Given the description of an element on the screen output the (x, y) to click on. 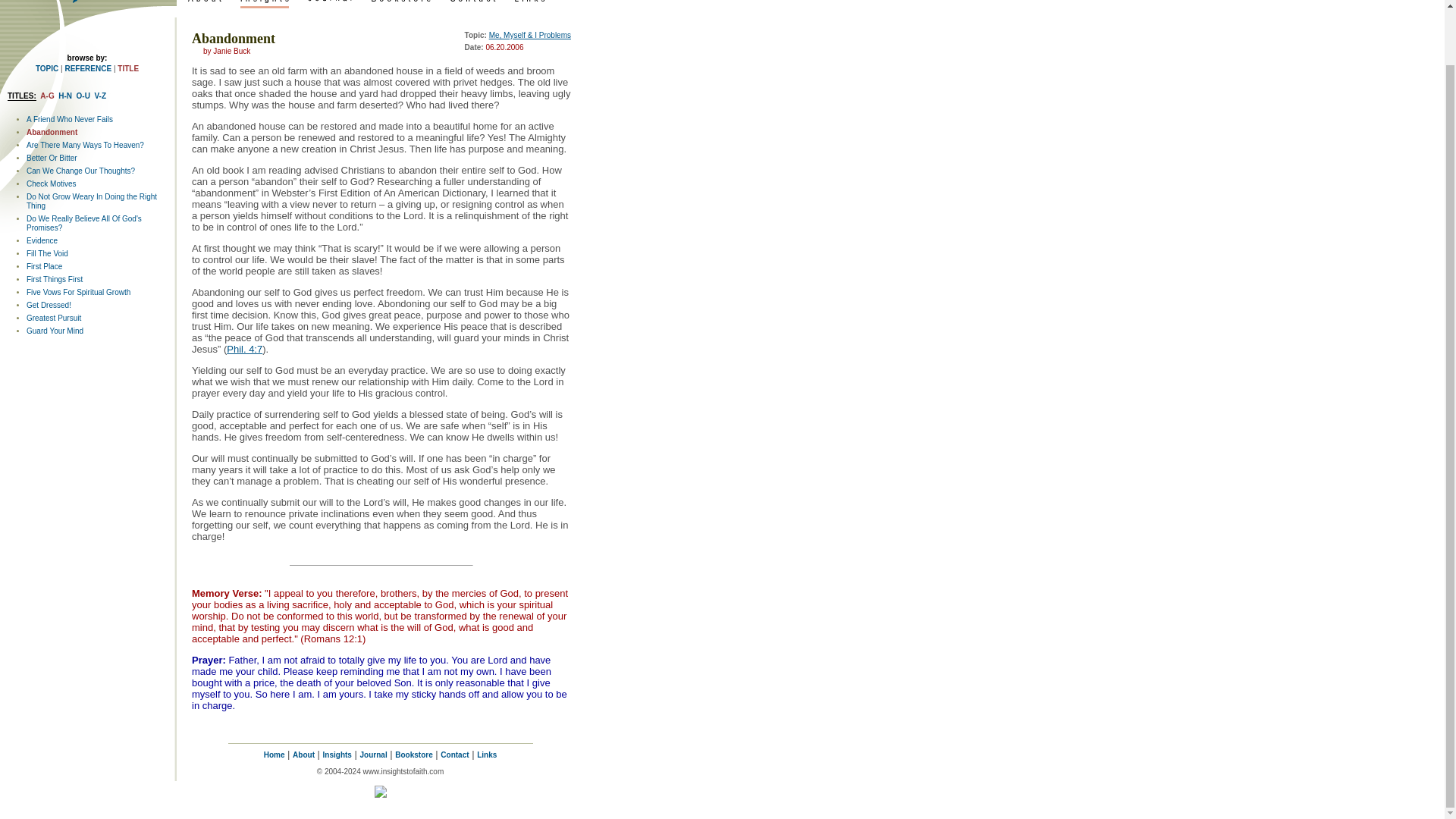
A-G (46, 95)
Fill The Void (47, 253)
Journal (373, 755)
TOPIC (46, 68)
About (303, 755)
TITLE (127, 68)
Do Not Grow Weary In Doing the Right Thing (91, 200)
Are There Many Ways To Heaven? (85, 144)
Bookstore (413, 755)
Abandonment (51, 131)
Links (486, 755)
Contact (454, 755)
A Friend Who Never Fails (69, 119)
Home (274, 755)
H-N (64, 95)
